Given the description of an element on the screen output the (x, y) to click on. 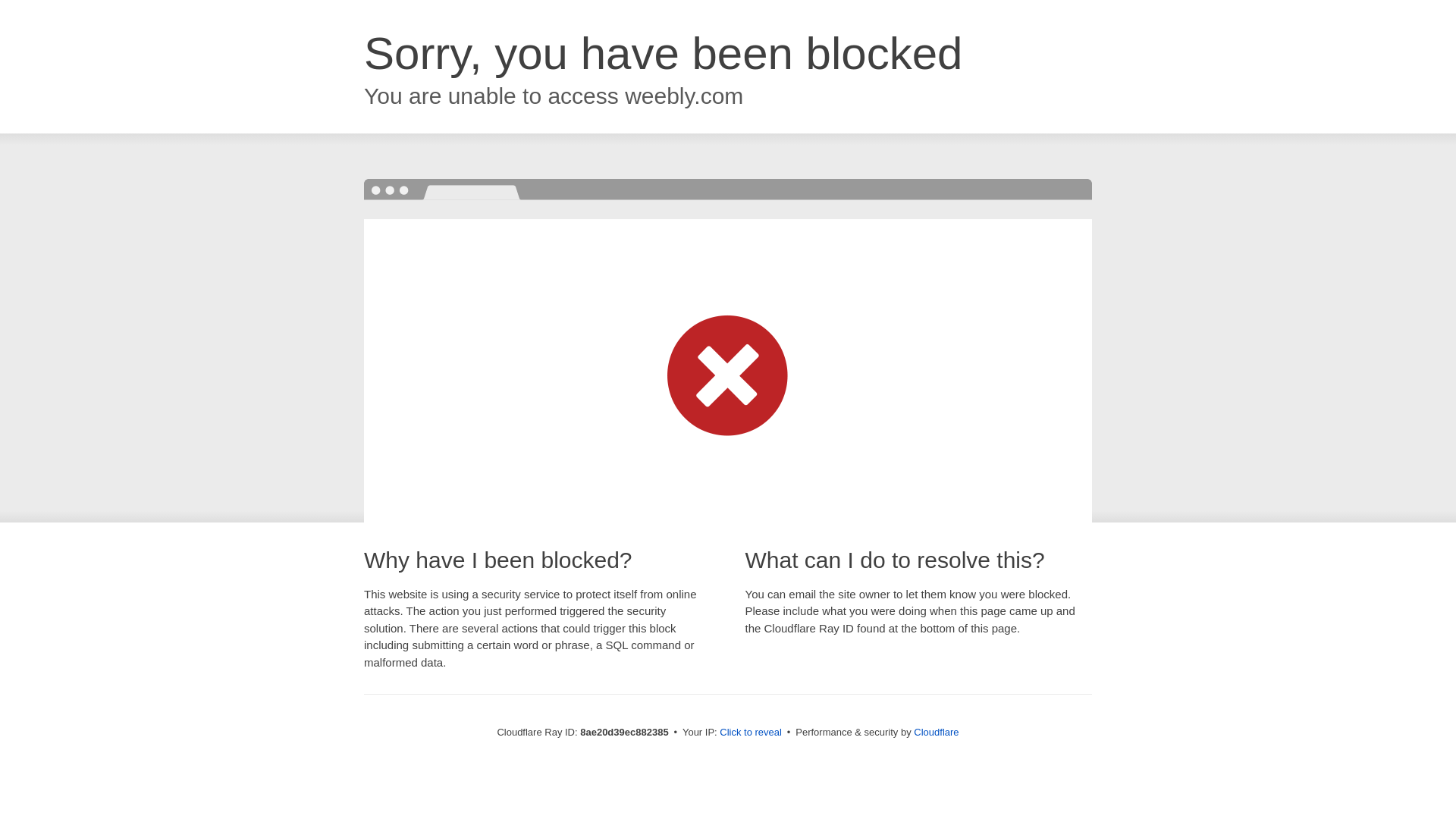
Click to reveal (750, 732)
Cloudflare (936, 731)
